Given the description of an element on the screen output the (x, y) to click on. 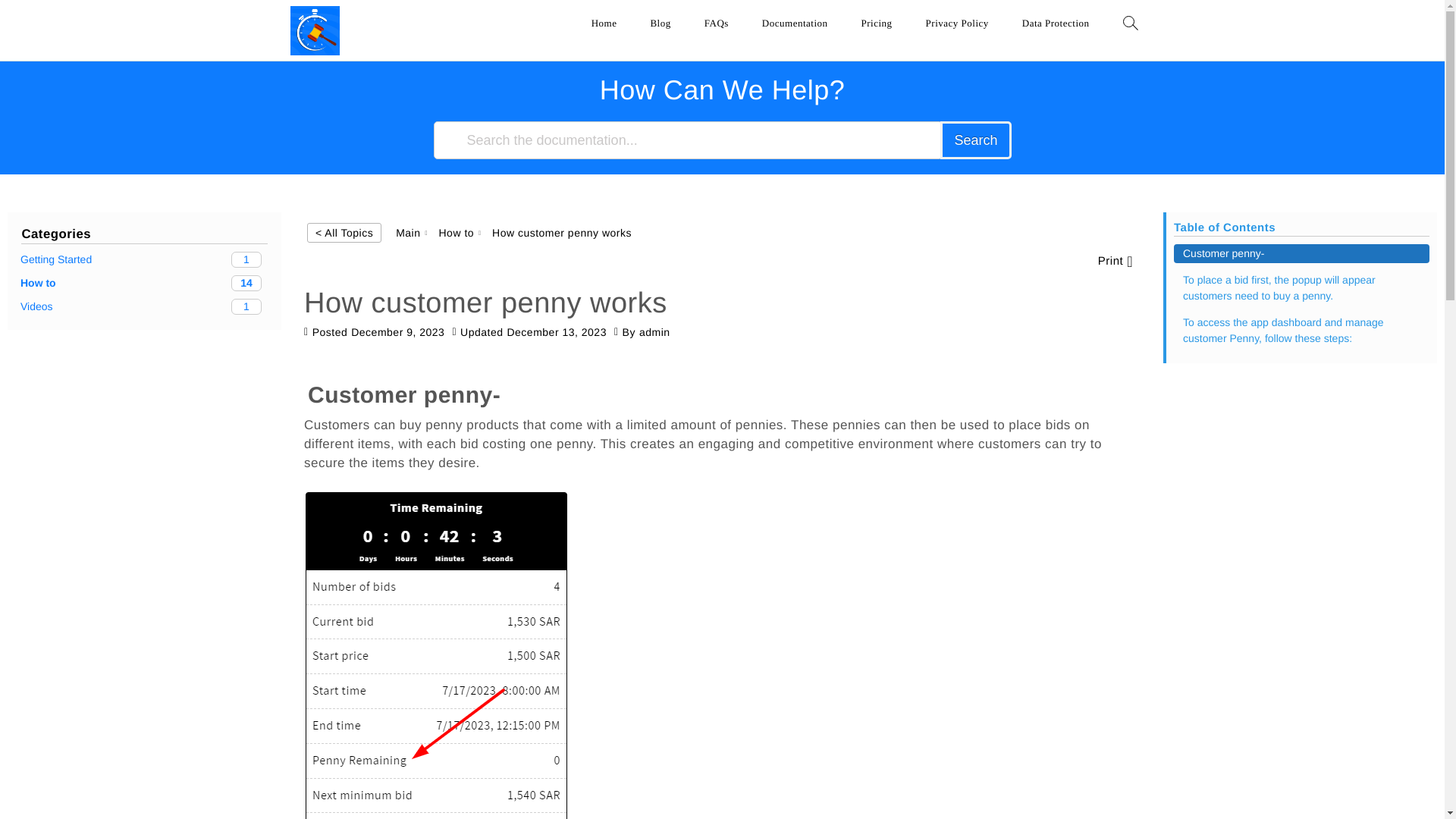
Auction Today (332, 68)
Documentation (794, 21)
Data Protection (1055, 21)
Privacy Policy (957, 21)
Home (604, 21)
Customer penny- (1301, 253)
Privacy Policy (957, 21)
FAQs (716, 21)
Data Protection (1055, 21)
Home (143, 283)
Main (604, 21)
Pricing (143, 259)
